Given the description of an element on the screen output the (x, y) to click on. 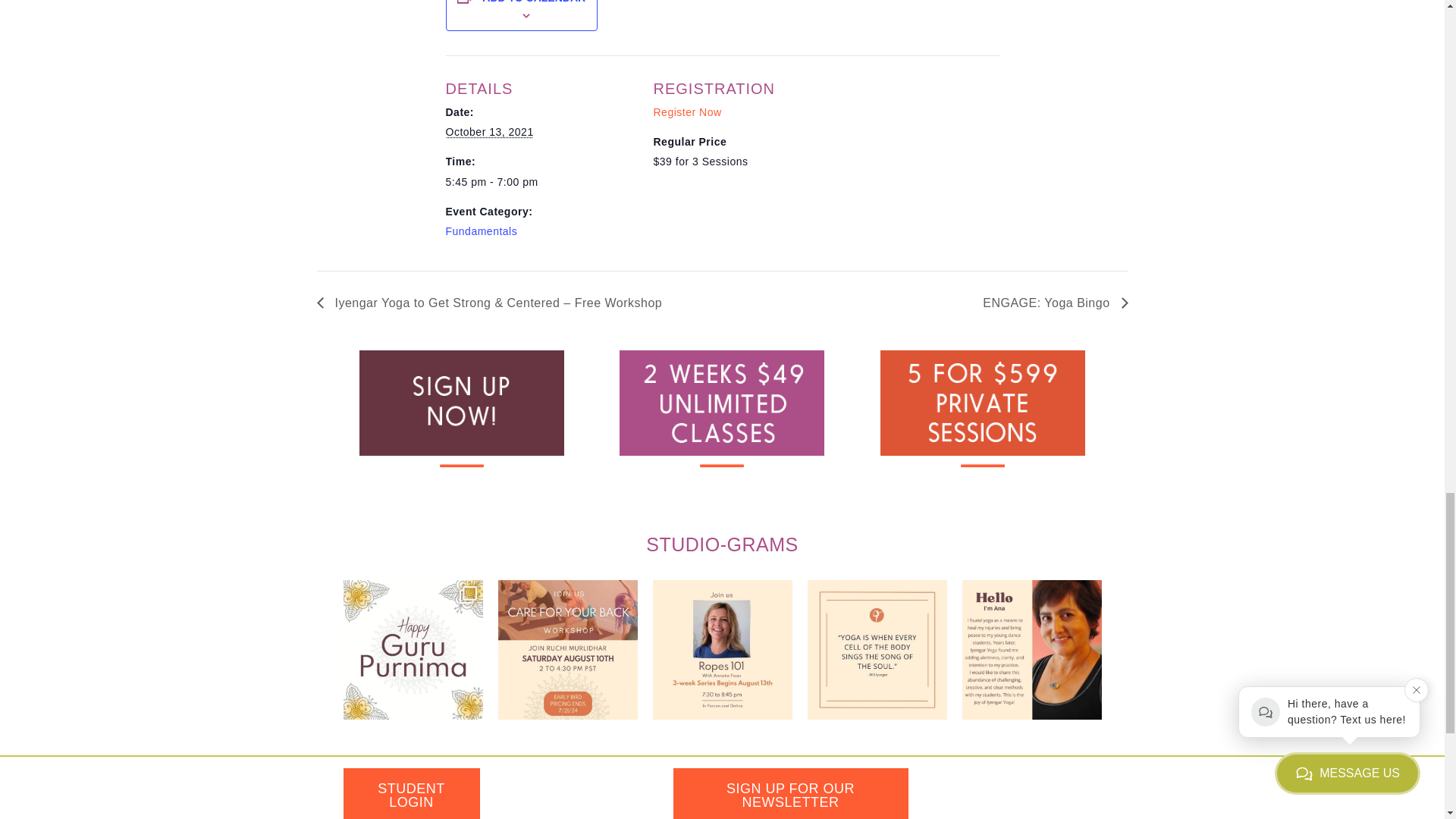
2021-10-13 (489, 132)
2021-10-13 (539, 181)
